Given the description of an element on the screen output the (x, y) to click on. 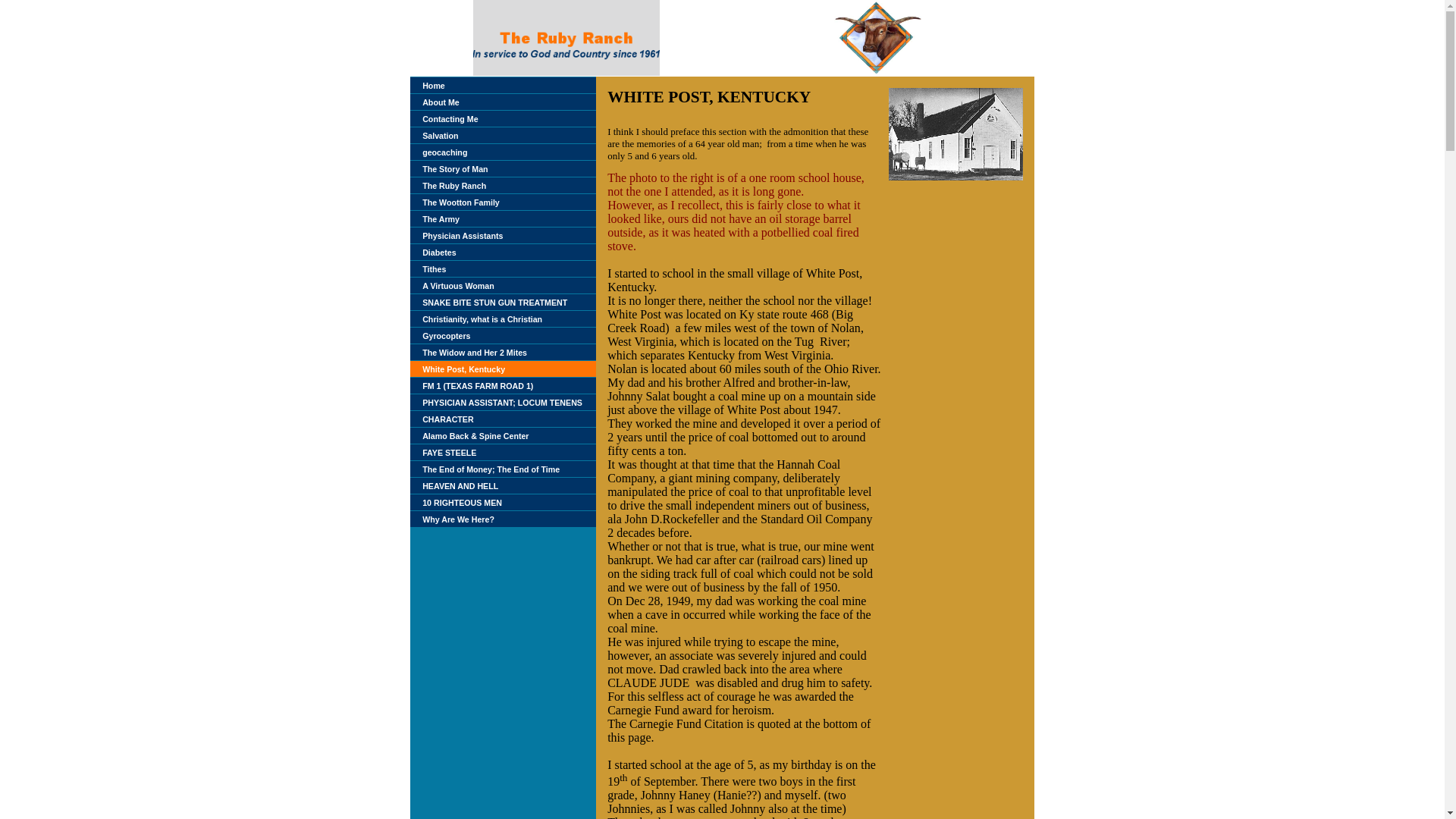
Why Are We Here? (458, 518)
Home (433, 84)
White Post, Kentucky (463, 368)
SNAKE BITE STUN GUN TREATMENT (494, 301)
Tithes (433, 267)
PHYSICIAN ASSISTANT; LOCUM TENENS (502, 401)
Salvation (440, 134)
The Ruby Ranch (454, 184)
geocaching (444, 151)
The Wootton Family (460, 201)
10 RIGHTEOUS MEN (462, 501)
FAYE STEELE (449, 451)
The End of Money; The End of Time (490, 468)
Gyrocopters (446, 334)
The Story of Man (454, 167)
